Given the description of an element on the screen output the (x, y) to click on. 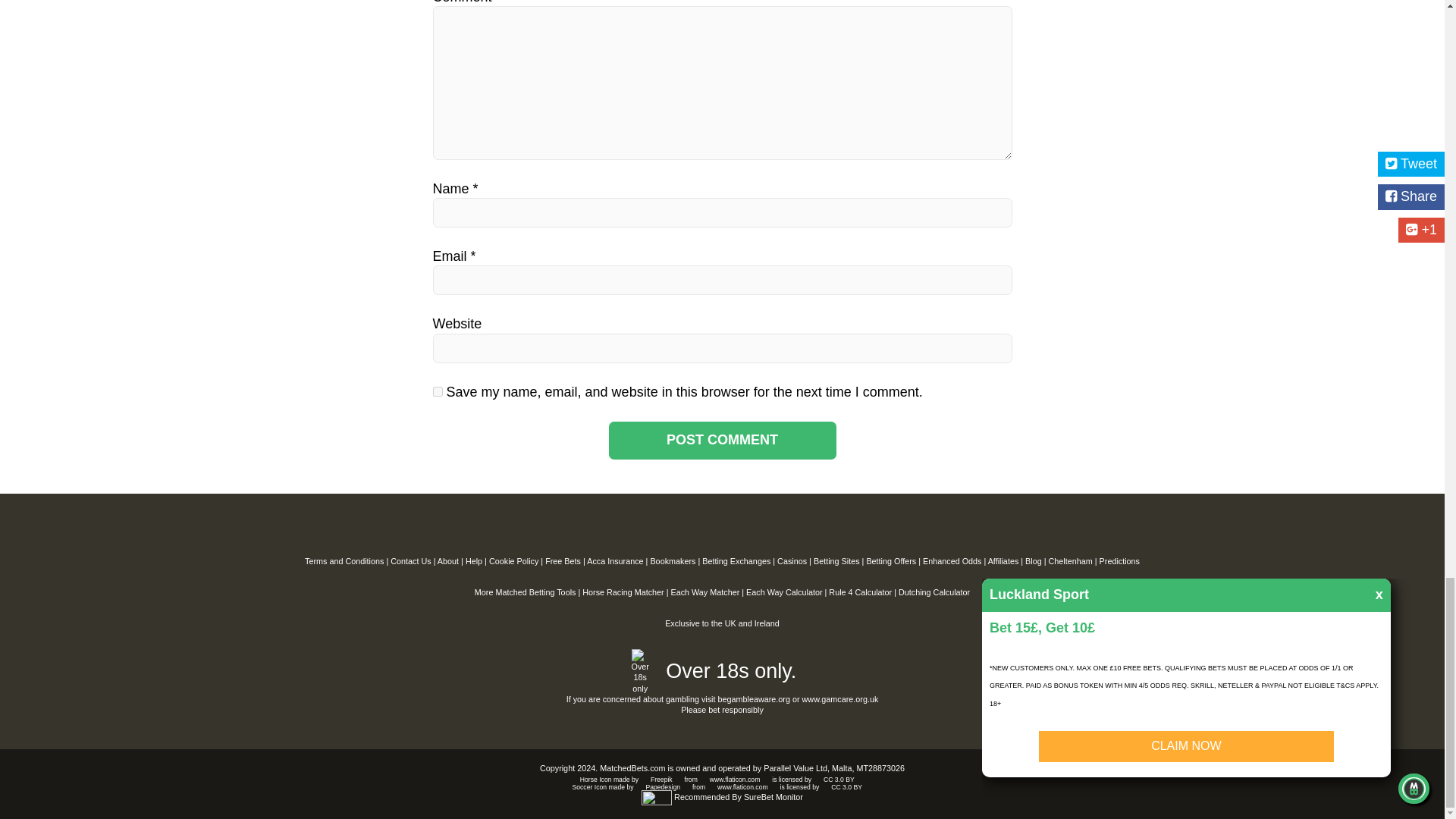
Flaticon (735, 778)
yes (437, 391)
Creative Commons BY 3.0 (839, 778)
Freepik (661, 778)
Post Comment (721, 440)
